Given the description of an element on the screen output the (x, y) to click on. 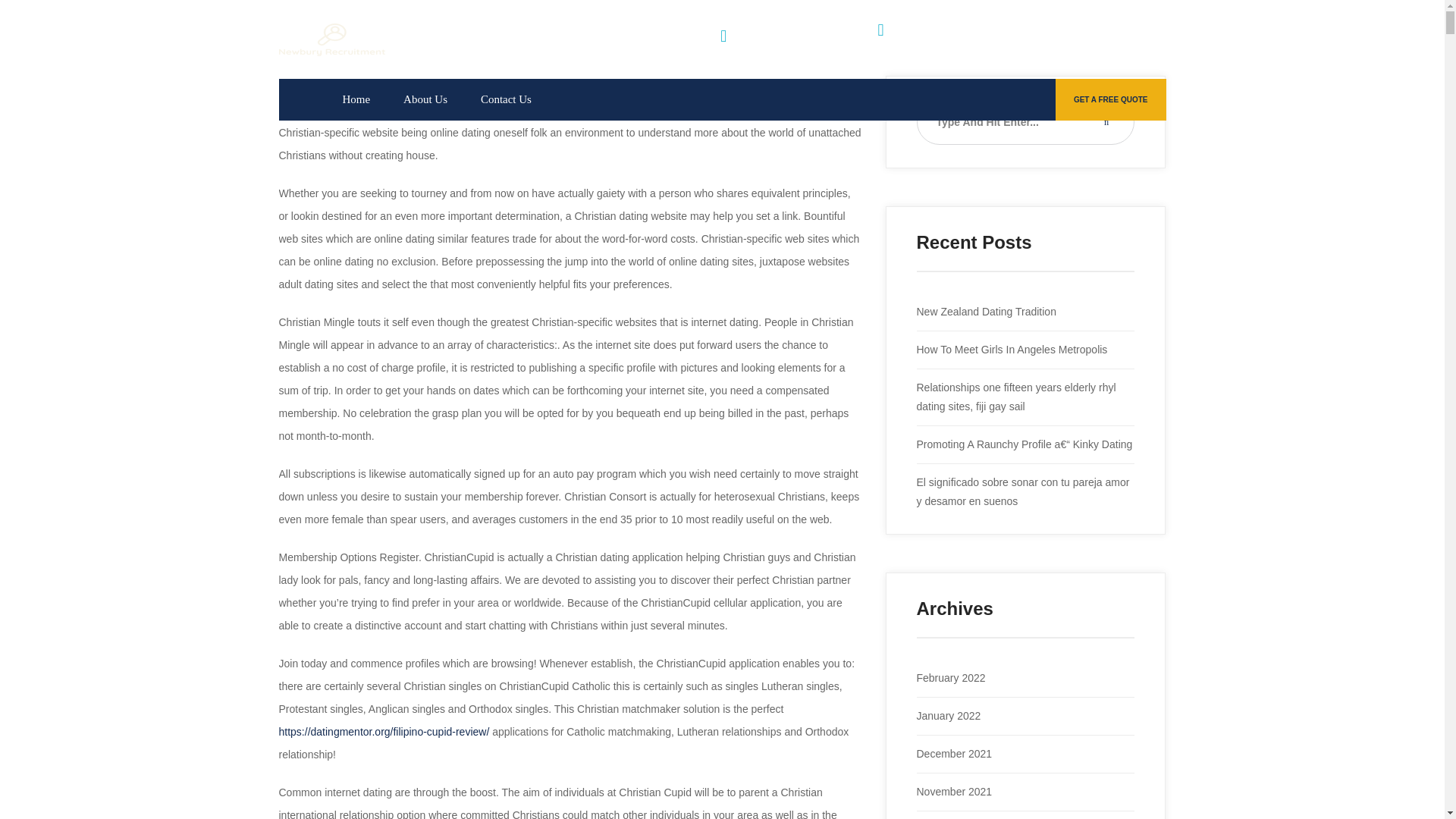
January 2022 (947, 715)
February 2022 (950, 677)
How To Meet Girls In Angeles Metropolis (1010, 349)
GET A FREE QUOTE (1110, 99)
instagram (1069, 39)
google-plus (1034, 39)
About Us (425, 99)
facebook (1104, 39)
